Given the description of an element on the screen output the (x, y) to click on. 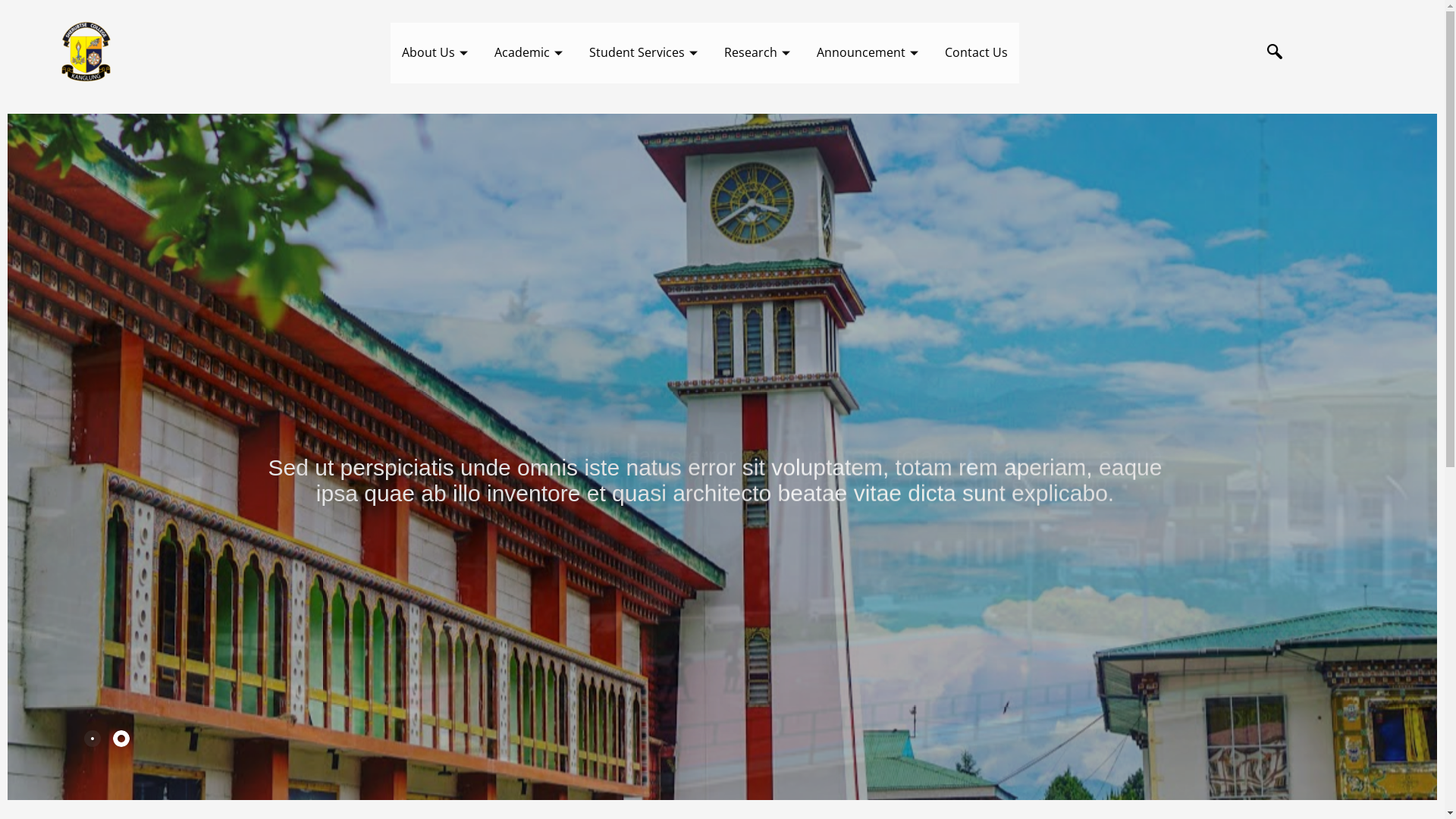
Announcement Element type: text (869, 52)
Research Element type: text (758, 52)
logo-removebg-preview-1 Element type: hover (84, 53)
Student Services Element type: text (644, 52)
Academic Element type: text (530, 52)
Contact Us Element type: text (976, 52)
About Us Element type: text (436, 52)
